Given the description of an element on the screen output the (x, y) to click on. 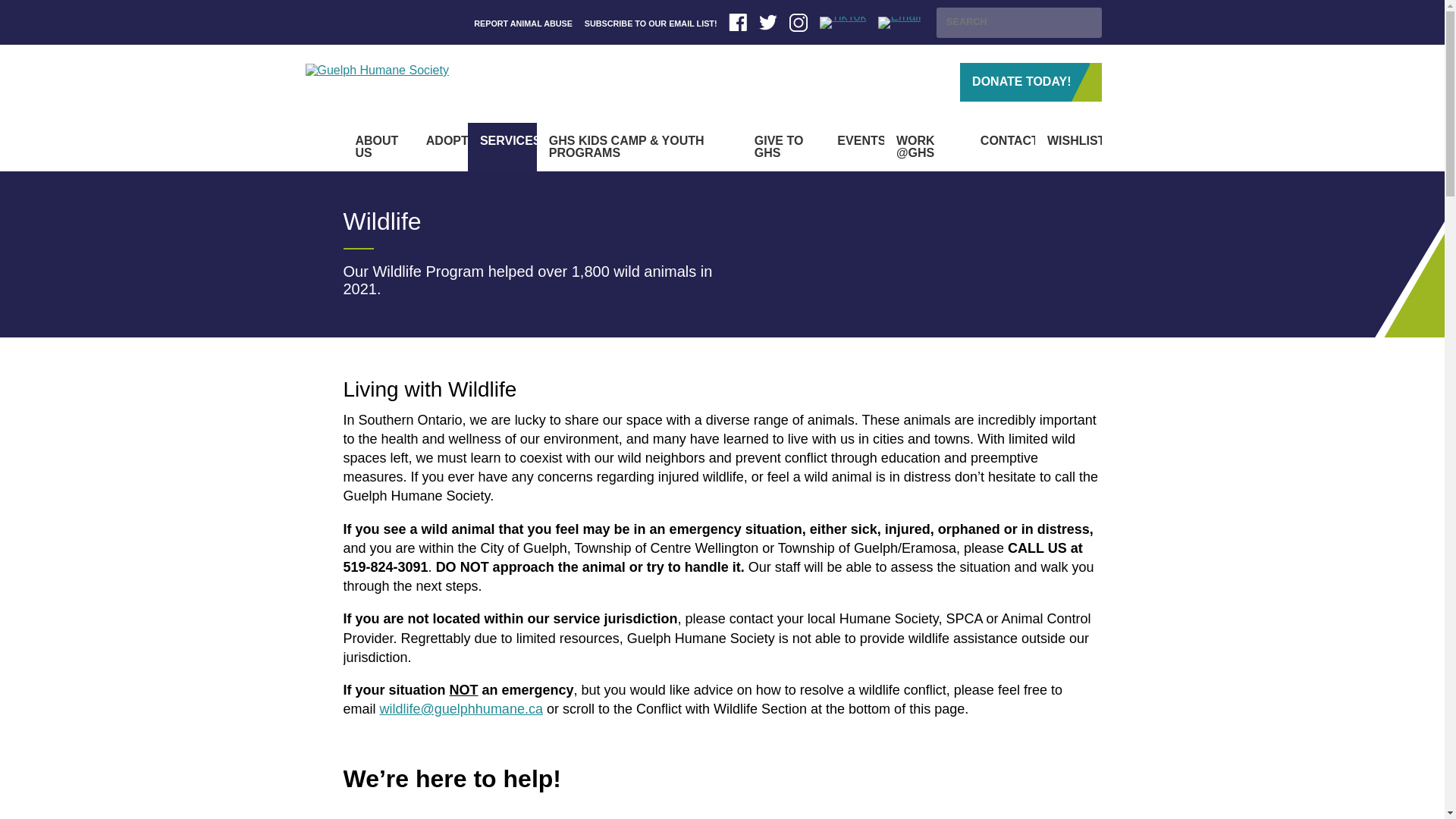
Submit (1084, 22)
SUBSCRIBE TO OUR EMAIL LIST! (651, 22)
Submit (1084, 22)
SERVICES (502, 146)
ADOPT (440, 146)
DONATE TODAY! (1029, 81)
REPORT ANIMAL ABUSE (523, 22)
ABOUT US (377, 146)
